Given the description of an element on the screen output the (x, y) to click on. 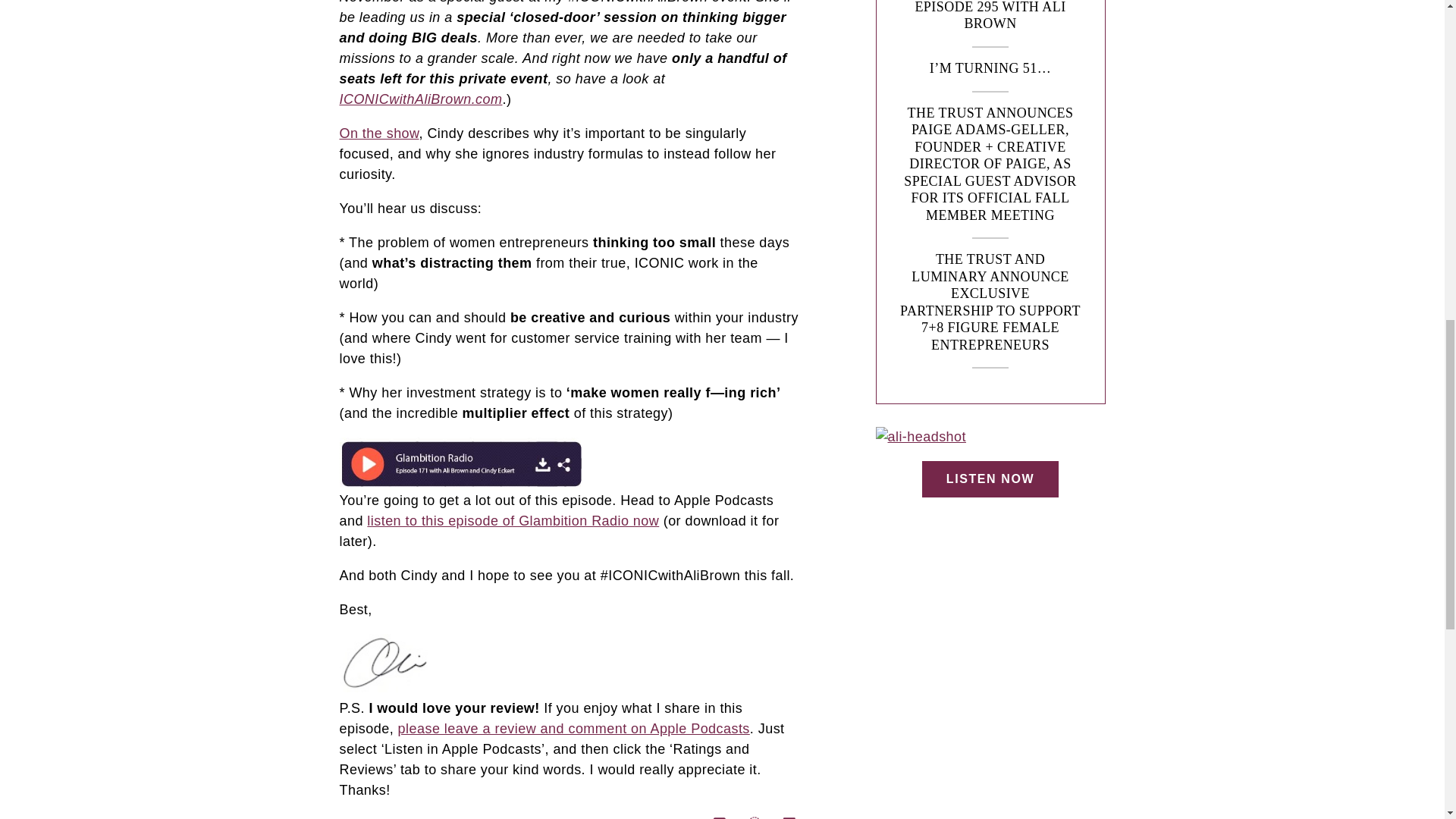
LISTEN NOW (989, 479)
ICONICwithAliBrown.com (420, 99)
listen to this episode of Glambition Radio now (512, 520)
On the show (379, 133)
please leave a review and comment on Apple Podcasts (573, 728)
